Given the description of an element on the screen output the (x, y) to click on. 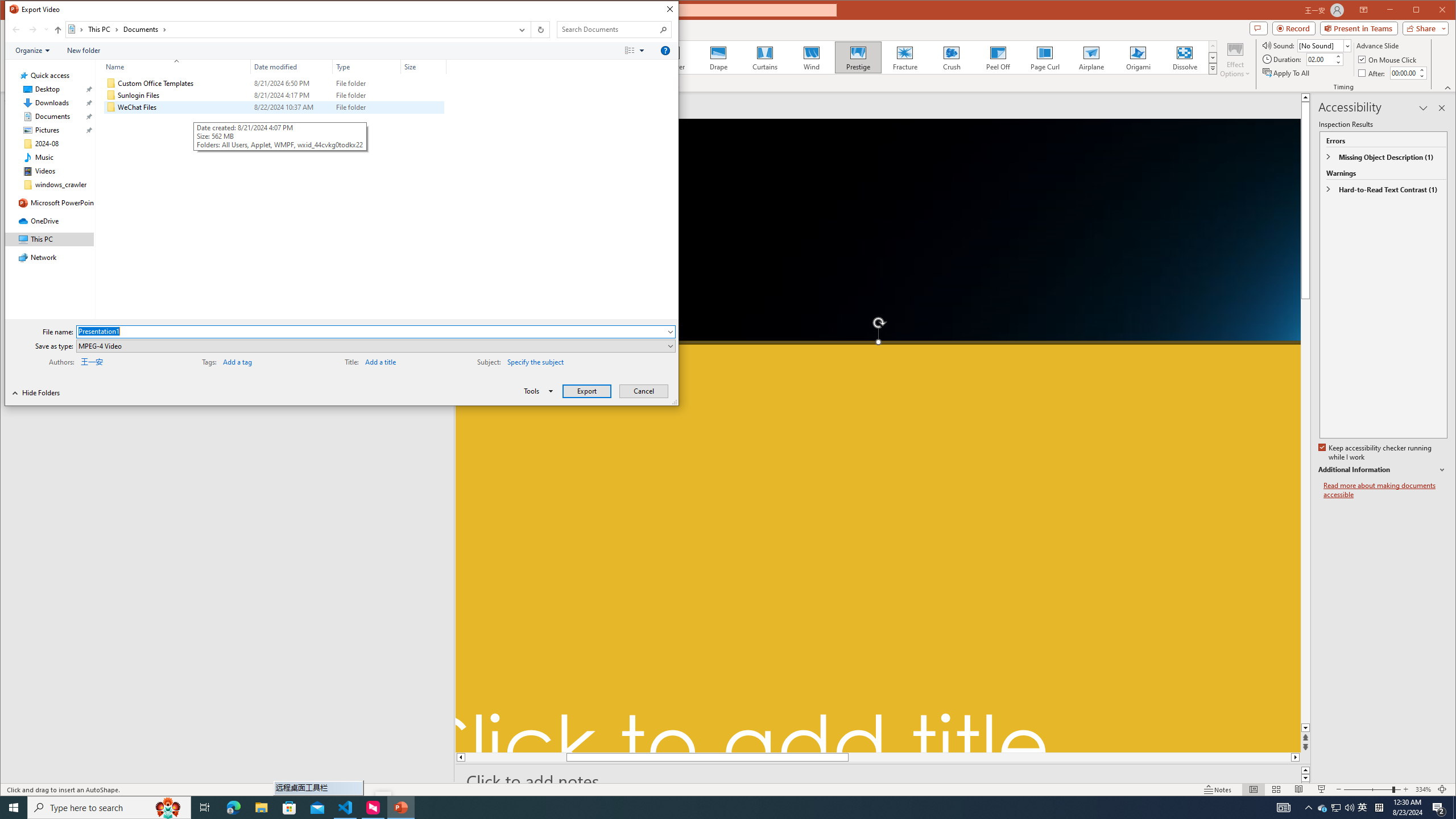
Type (366, 107)
This PC (102, 29)
Class: UIImage (111, 107)
Command Module (341, 50)
Drape (717, 57)
Size (423, 107)
Transition Effects (1212, 68)
